Given the description of an element on the screen output the (x, y) to click on. 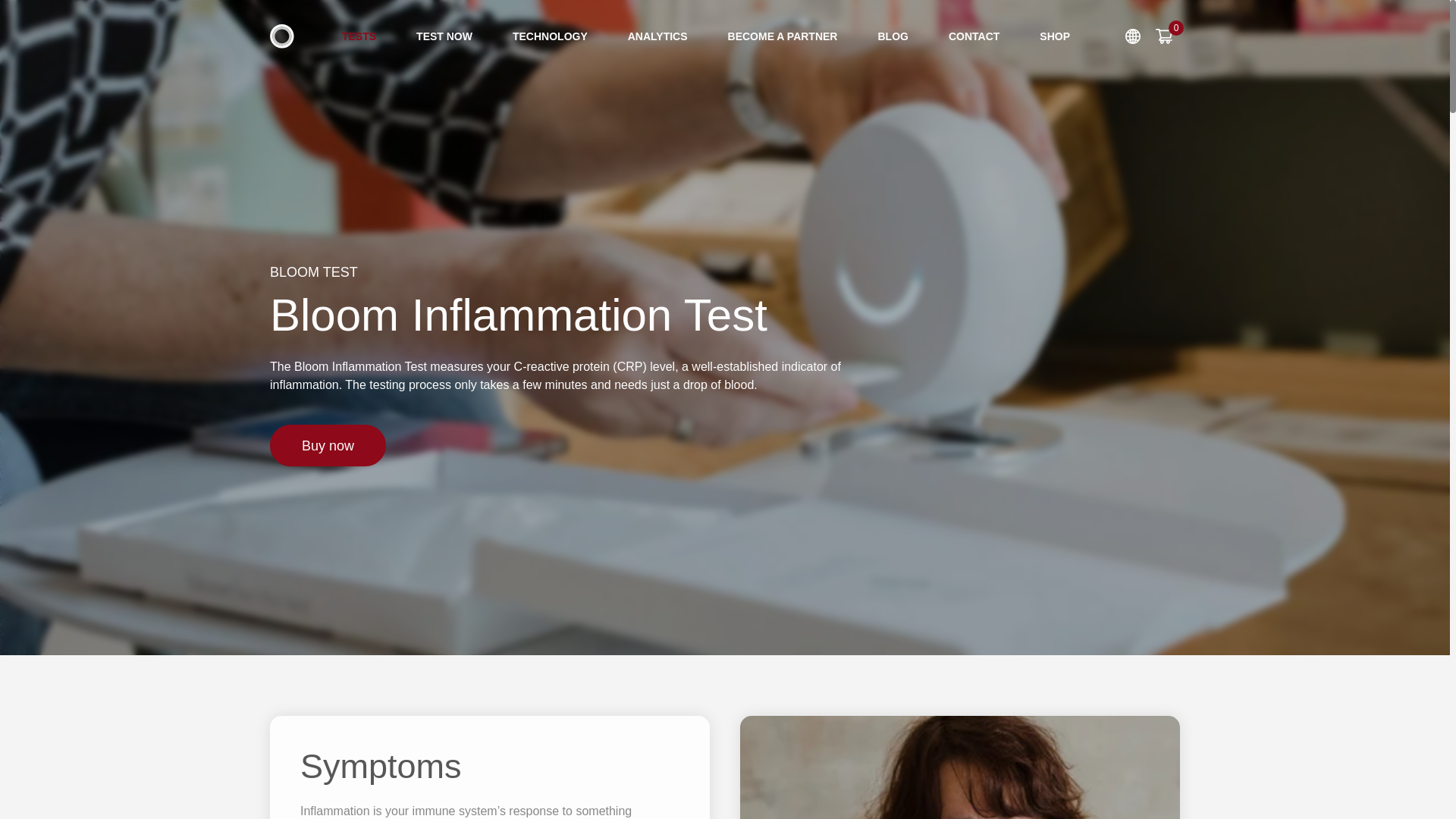
BLOG (892, 35)
ANALYTICS (657, 35)
TECHNOLOGY (550, 35)
TESTS (359, 35)
TEST NOW (444, 35)
SHOP (1054, 35)
CONTACT (973, 35)
BECOME A PARTNER (782, 35)
